Given the description of an element on the screen output the (x, y) to click on. 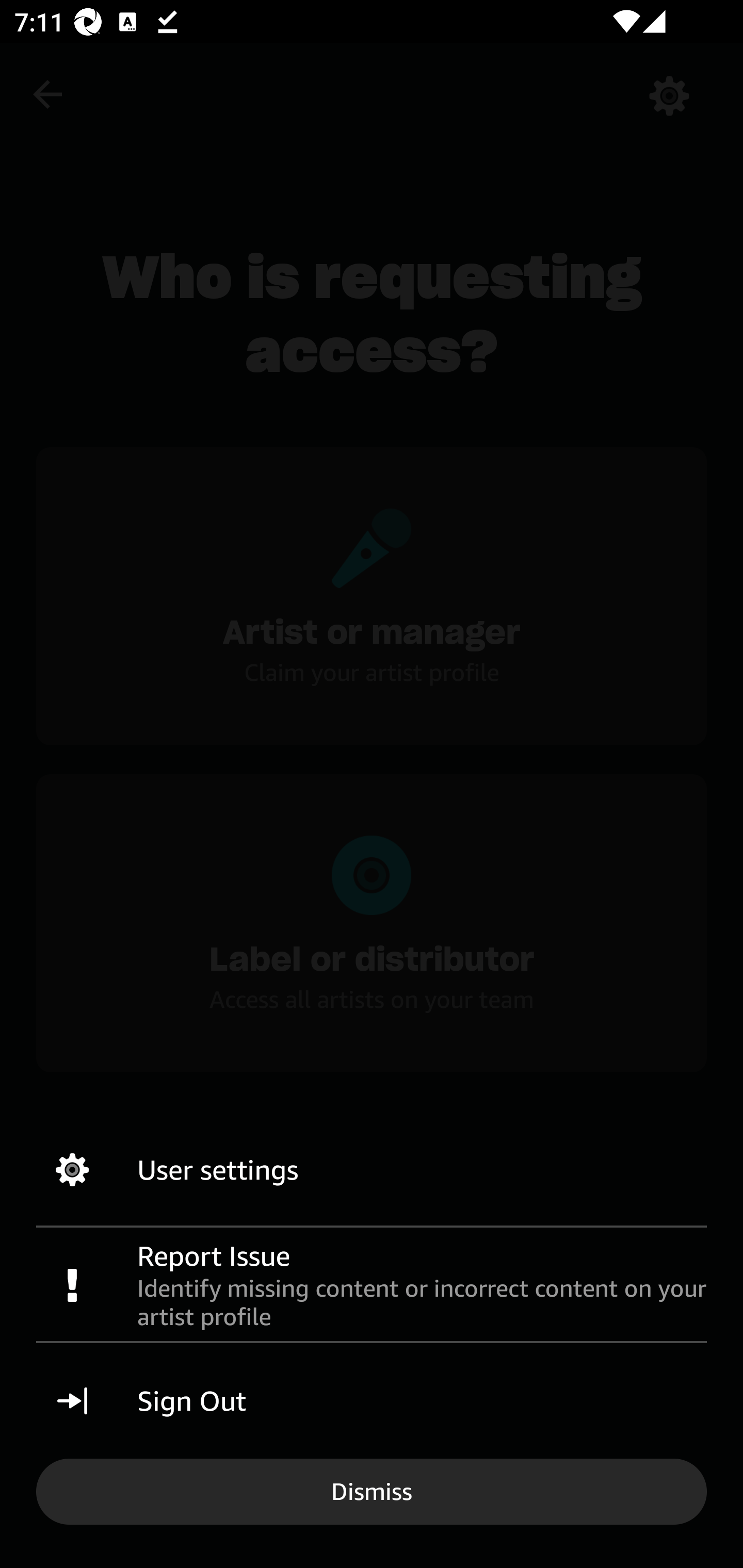
User settings  icon User settings User settings (371, 1169)
Sign Out  icon Sign Out Sign Out (371, 1400)
Dismiss button Dismiss (371, 1491)
